Given the description of an element on the screen output the (x, y) to click on. 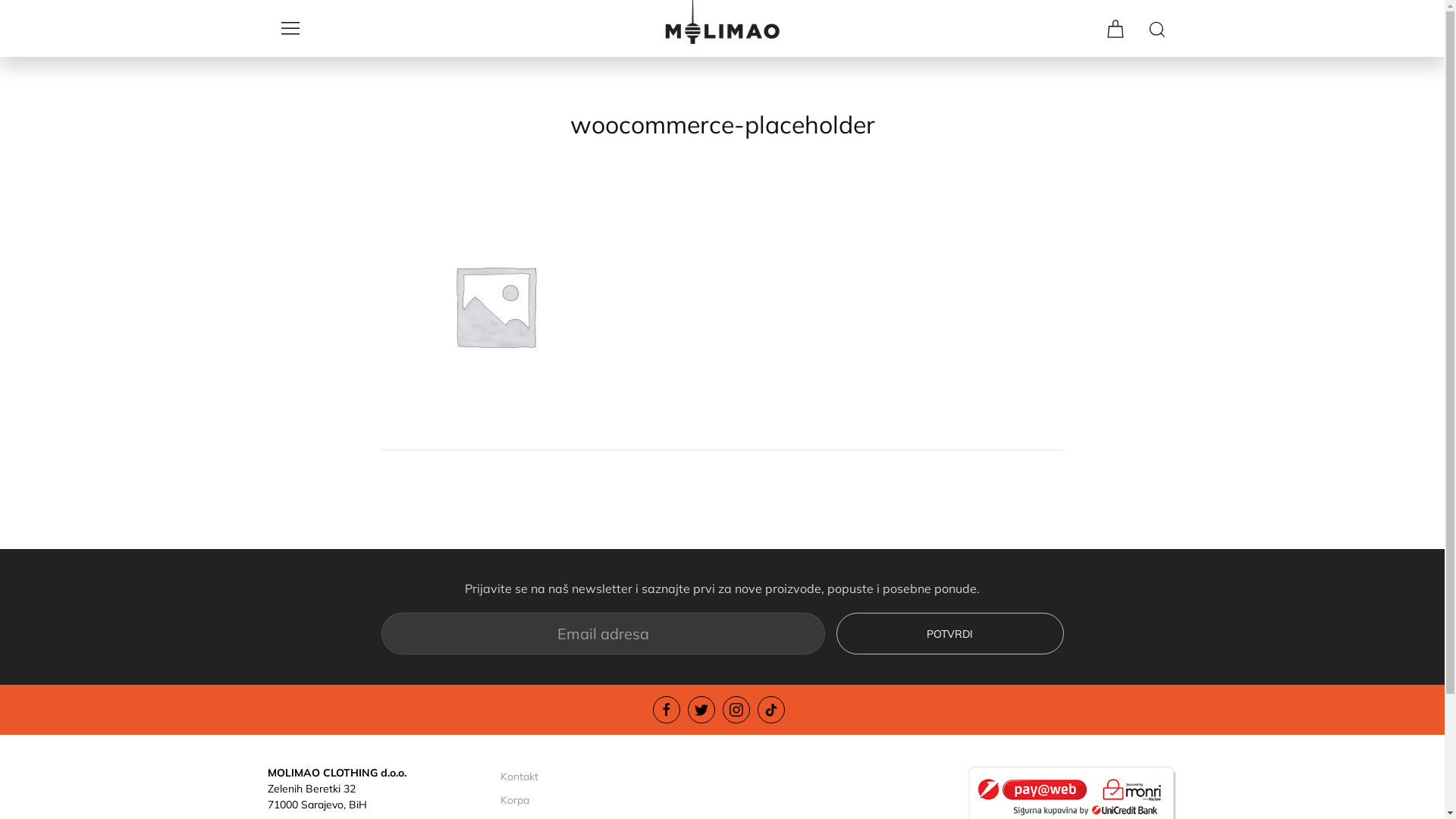
Kontakt Element type: text (605, 776)
Korpa Element type: text (605, 800)
Potvrdi Element type: text (949, 633)
